Given the description of an element on the screen output the (x, y) to click on. 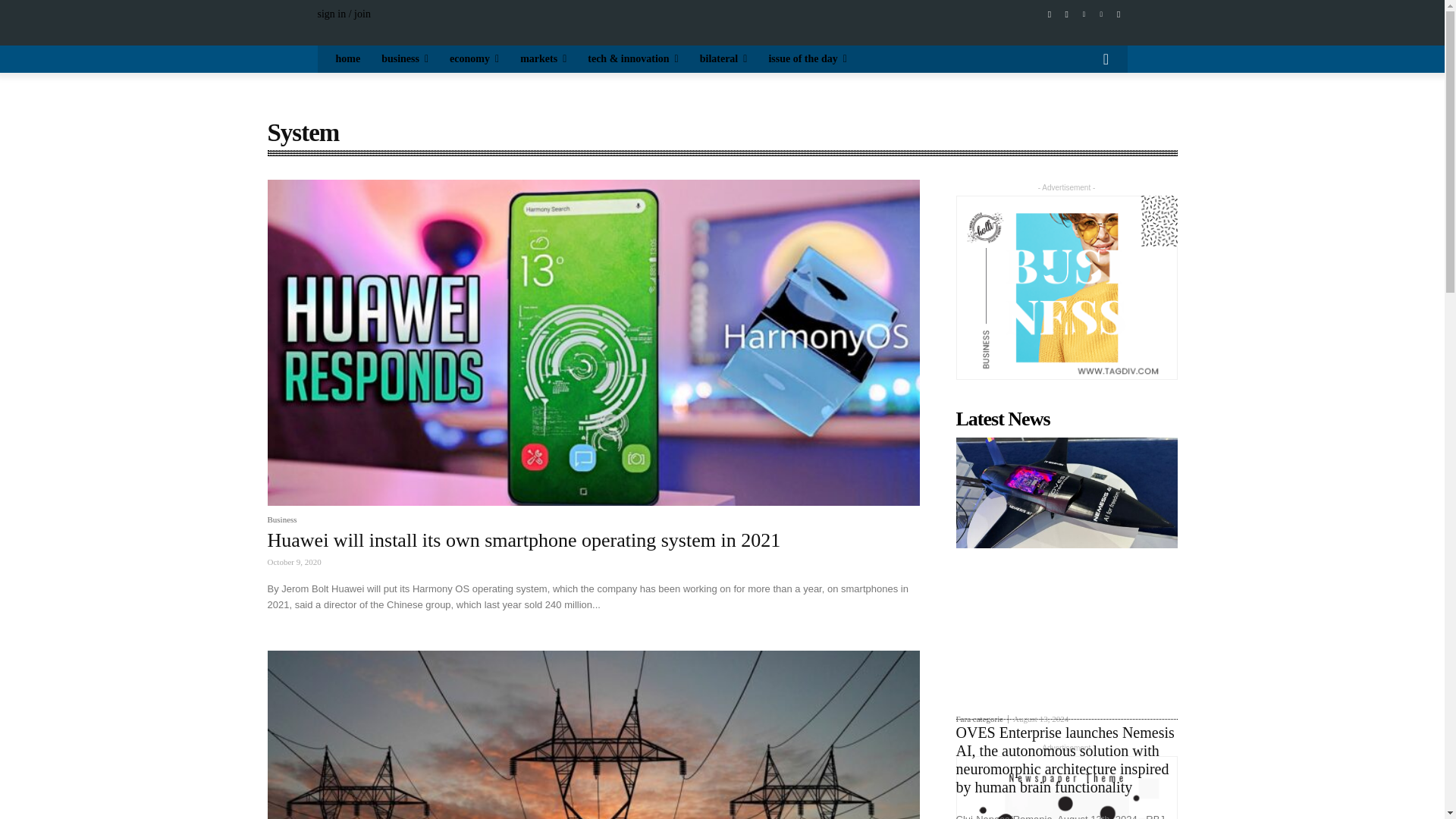
National energy system is at the edge of the abyss (592, 734)
economy (474, 58)
business (405, 58)
home (347, 58)
